Given the description of an element on the screen output the (x, y) to click on. 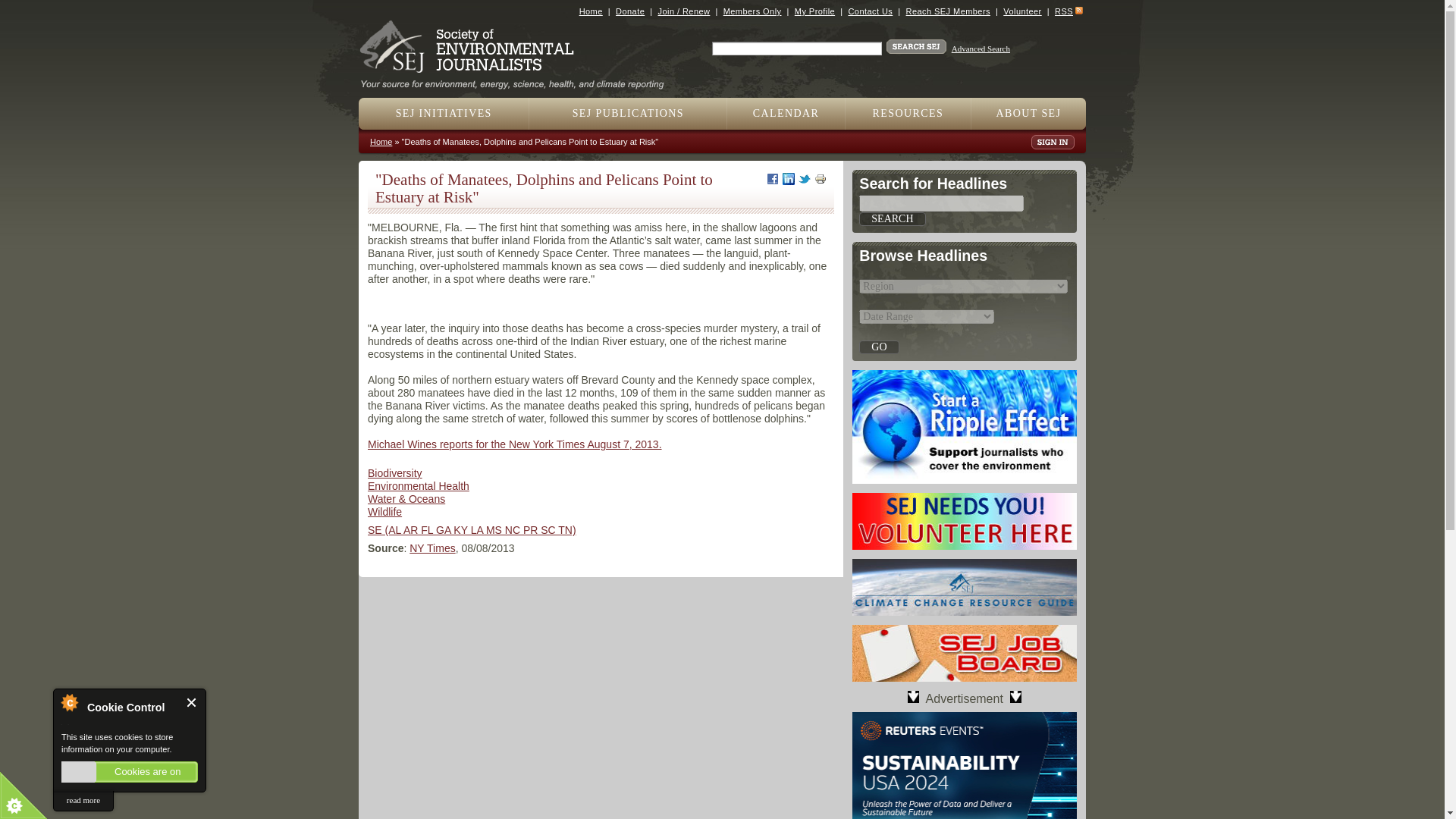
Enter the terms you wish to search for. (796, 48)
Volunteer (1022, 10)
Advanced Search (981, 48)
Members Only (752, 10)
SEJ INITIATIVES (443, 113)
SEJ PUBLICATIONS (627, 113)
Search (891, 219)
Go (878, 346)
Close (191, 702)
RSS (1063, 10)
